Given the description of an element on the screen output the (x, y) to click on. 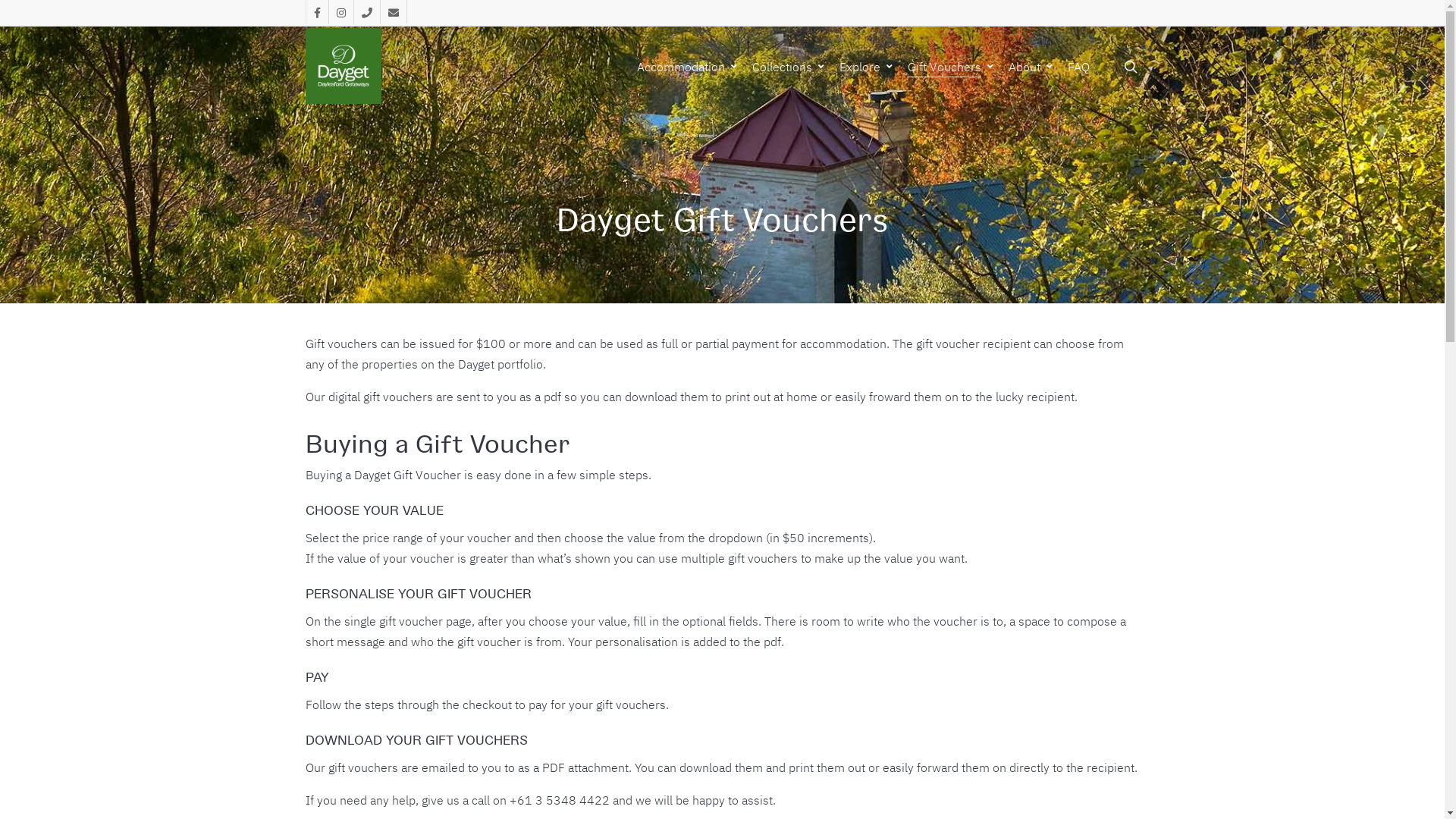
email Element type: text (392, 12)
phone Element type: text (366, 12)
About Element type: text (1031, 66)
FAQ Element type: text (1078, 66)
Gift Vouchers Element type: text (950, 66)
instagram Element type: text (339, 12)
0 Element type: text (1155, 73)
facebook Element type: text (315, 12)
Explore Element type: text (866, 66)
Collections Element type: text (789, 66)
search Element type: text (1129, 66)
Accommodation Element type: text (688, 66)
